Given the description of an element on the screen output the (x, y) to click on. 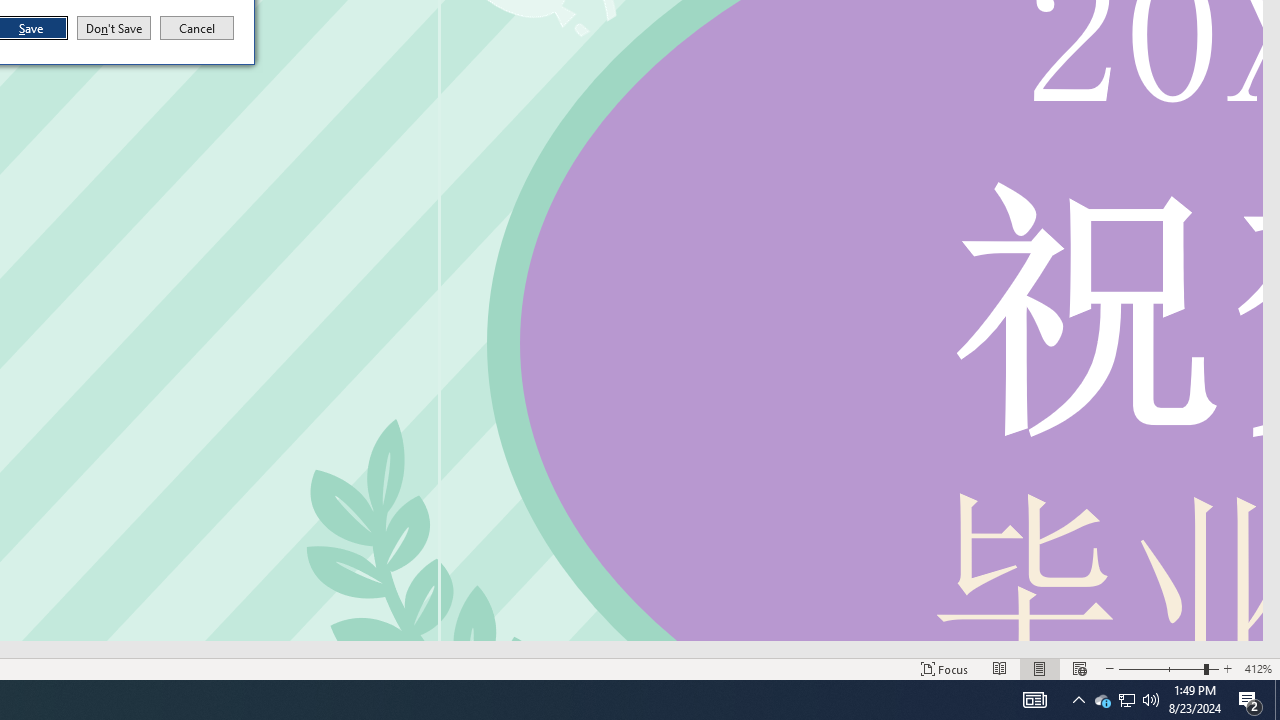
Don't Save (113, 27)
